Given the description of an element on the screen output the (x, y) to click on. 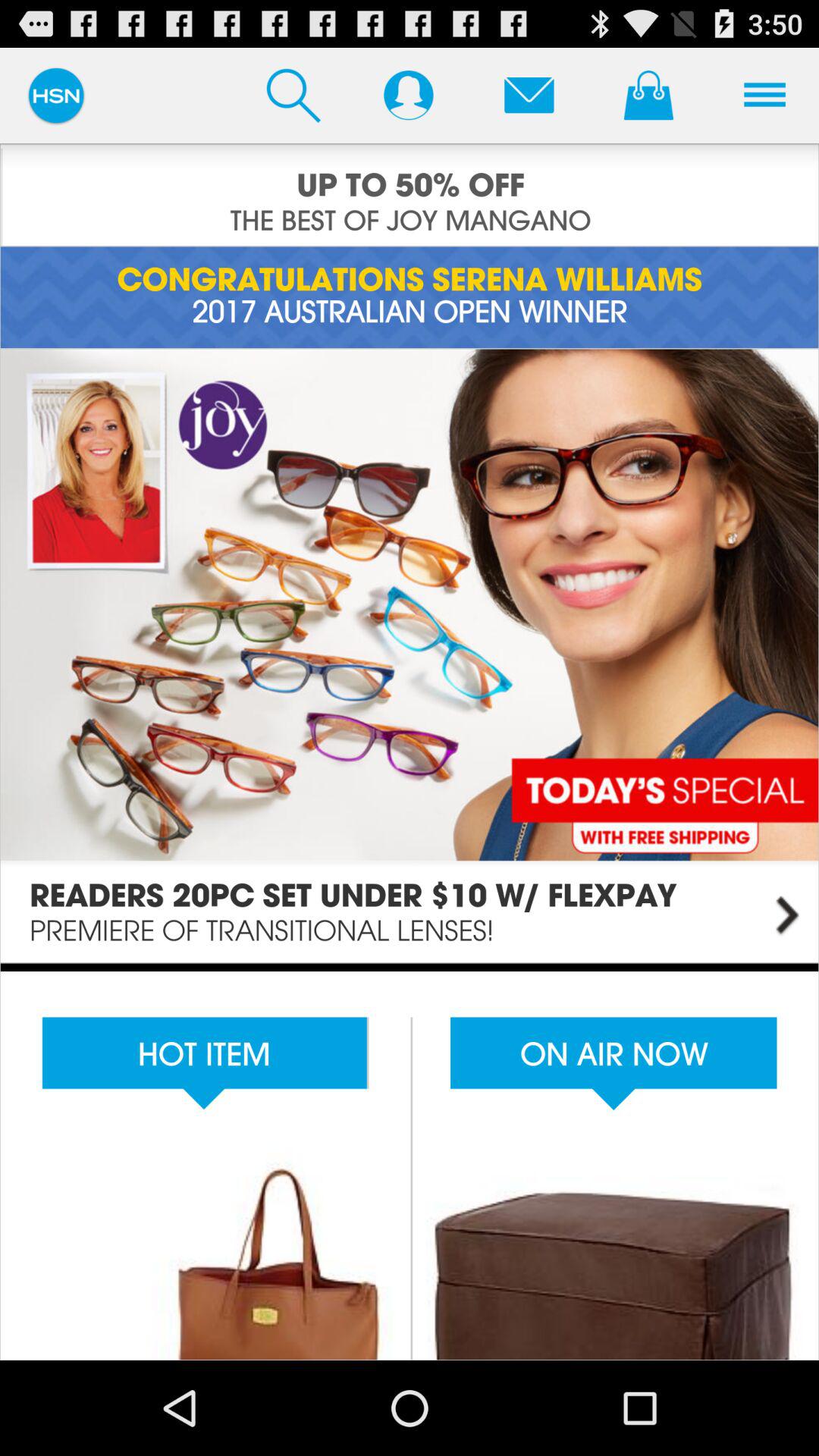
ateno clicar (529, 95)
